Given the description of an element on the screen output the (x, y) to click on. 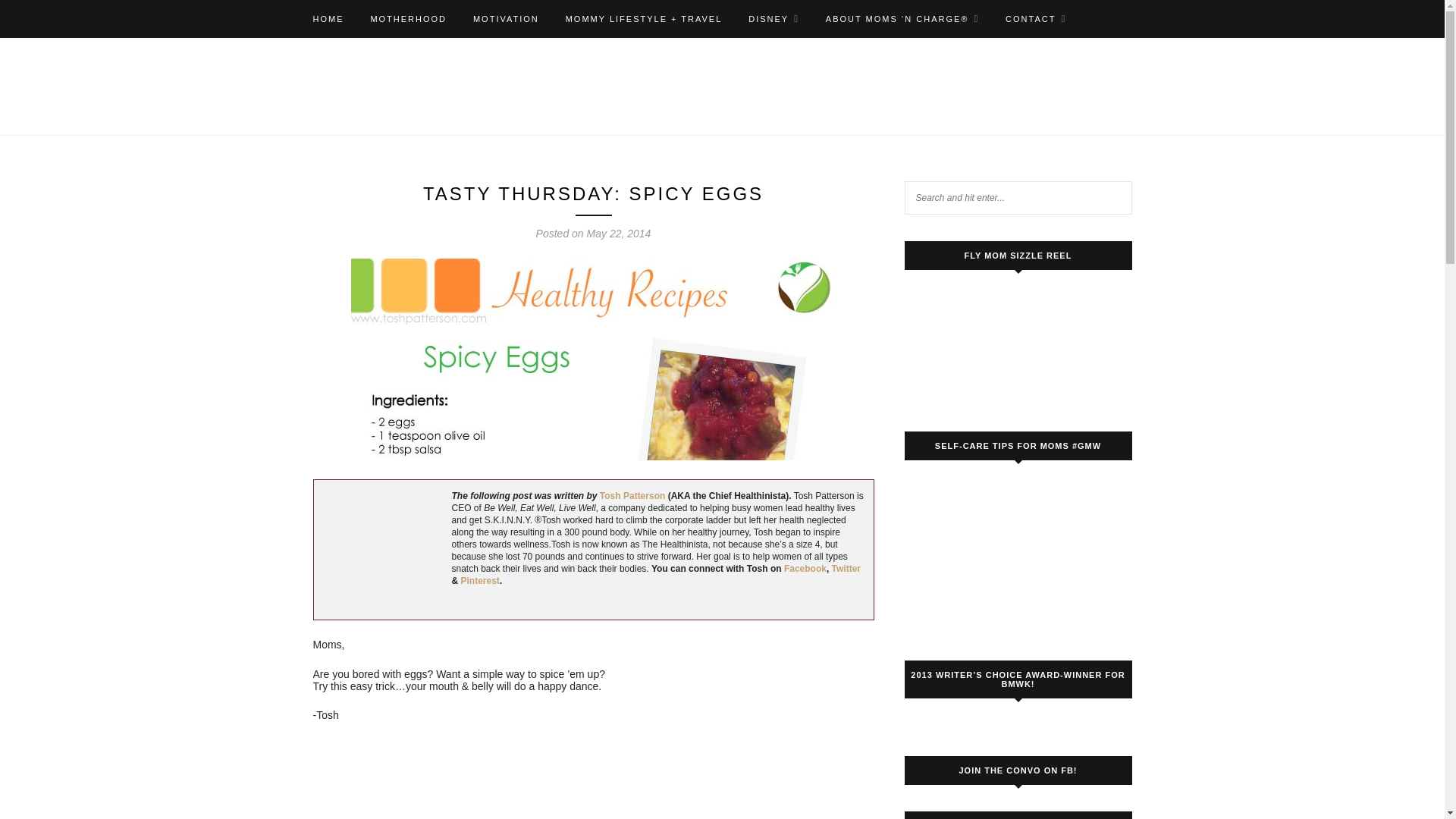
DISNEY (773, 18)
MOTHERHOOD (407, 18)
Tosh Patterson (632, 495)
OPT-OUT PREFERENCES (377, 56)
CONTACT (1035, 18)
Pinterest (480, 580)
MOTIVATION (505, 18)
Twitter (845, 568)
Facebook (805, 568)
